Given the description of an element on the screen output the (x, y) to click on. 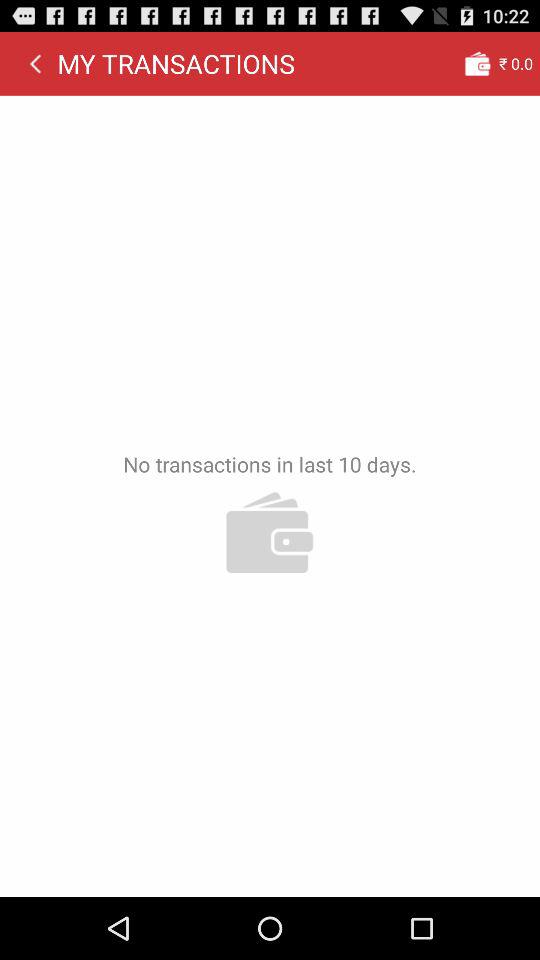
open the app next to the my transactions (477, 63)
